Given the description of an element on the screen output the (x, y) to click on. 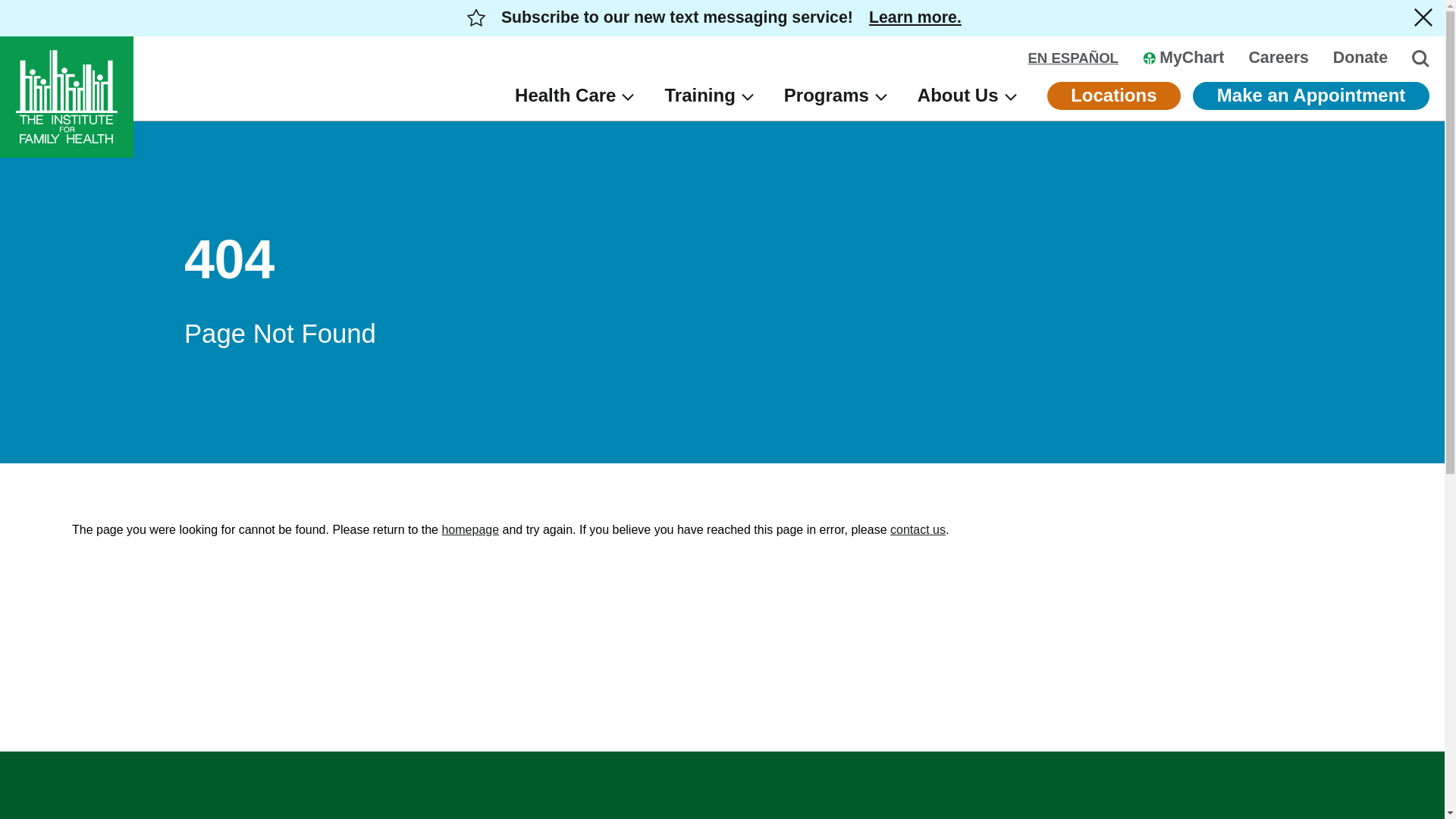
Locations (1113, 95)
contact us (916, 529)
Training (707, 96)
homepage (470, 529)
Learn more. (914, 17)
Health Care (574, 96)
Careers (1277, 57)
About Us (966, 96)
Make an Appointment (1310, 95)
MyChart (1183, 57)
Donate (1360, 57)
Programs (835, 96)
